Given the description of an element on the screen output the (x, y) to click on. 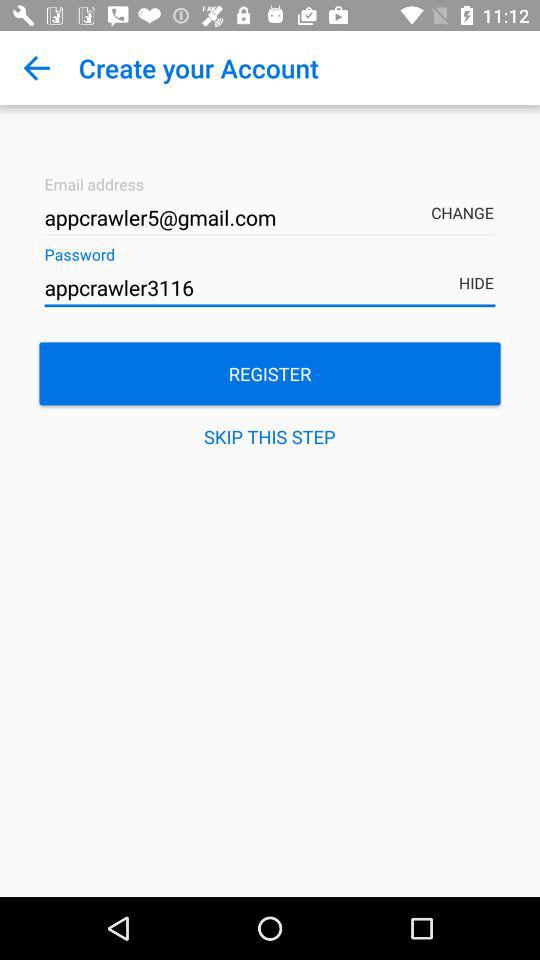
click item above the hide item (465, 199)
